Given the description of an element on the screen output the (x, y) to click on. 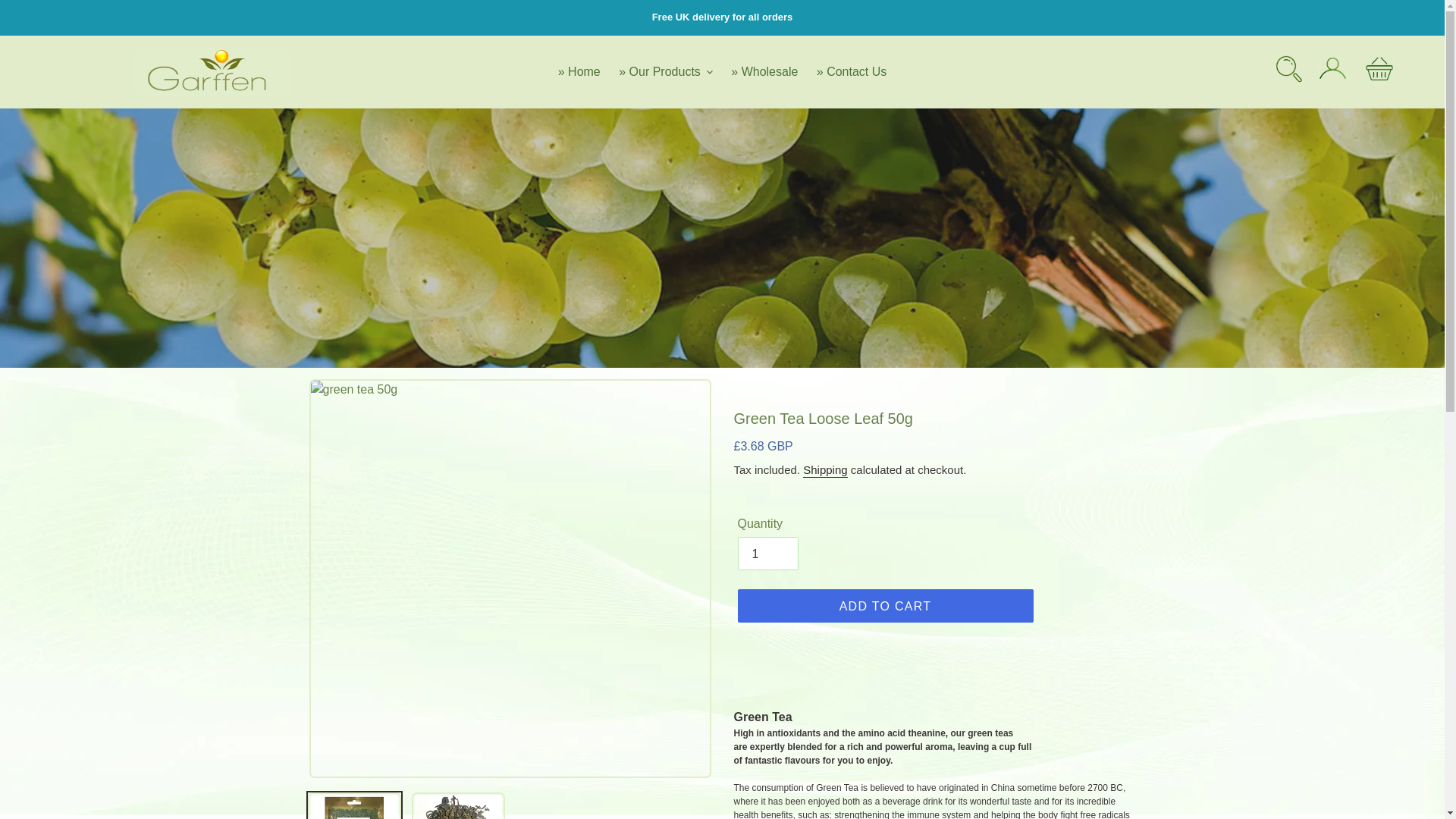
Search (1288, 71)
Free UK delivery for all orders (721, 17)
Cart (1379, 70)
1 (766, 553)
Log in (1331, 70)
